Given the description of an element on the screen output the (x, y) to click on. 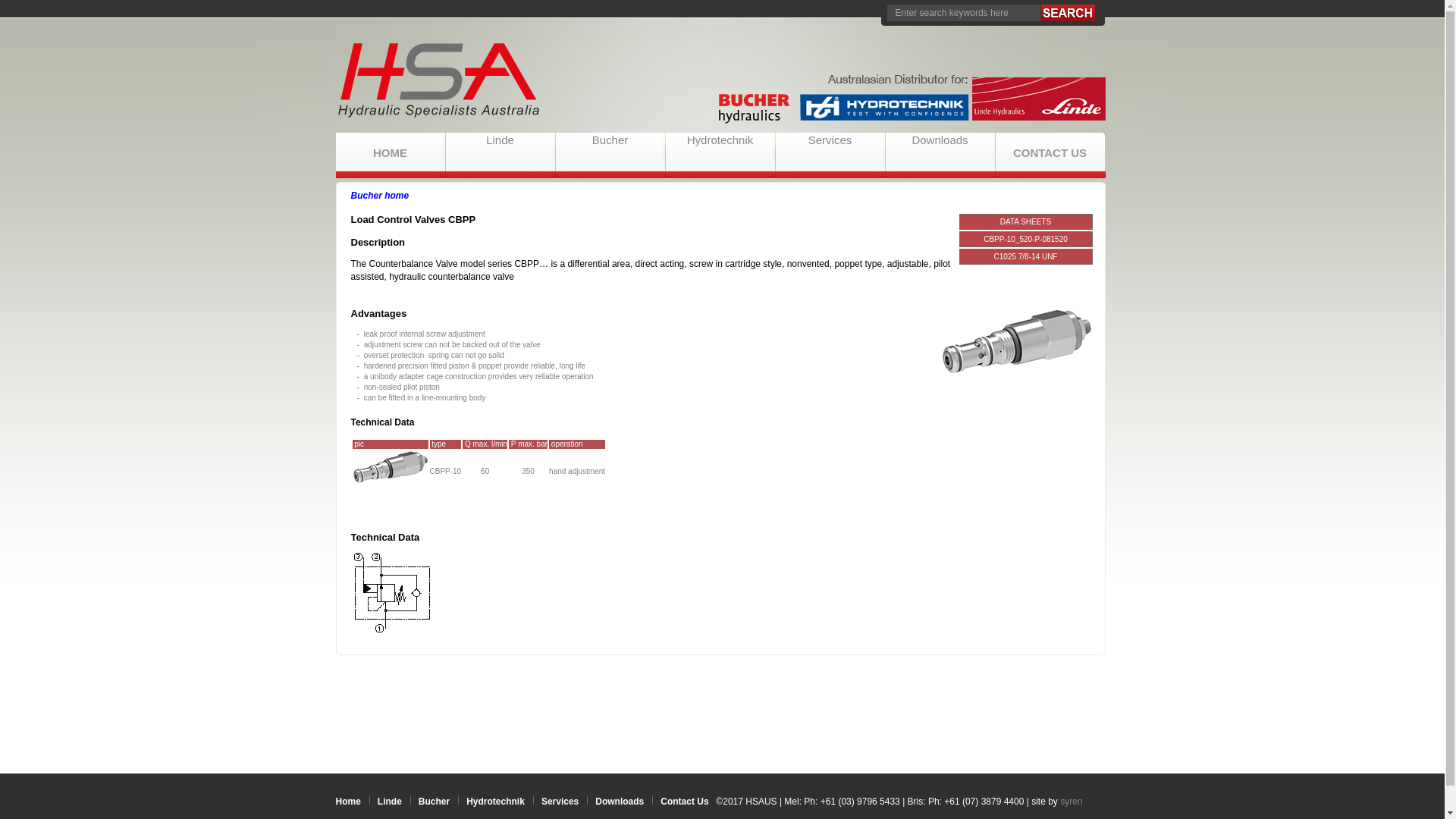
Services Element type: text (559, 801)
syren Element type: text (1071, 801)
Hydrotechnik Element type: text (720, 139)
Hydrotechnik Element type: text (495, 801)
Linde Element type: text (389, 801)
Downloads Element type: text (939, 139)
Downloads Element type: text (619, 801)
Contact Us Element type: text (684, 801)
Bucher Element type: text (433, 801)
Bucher Element type: text (610, 139)
Bucher home Element type: text (379, 195)
Home Element type: text (347, 801)
Linde Element type: text (500, 139)
C1025 7/8-14 UNF Element type: text (1025, 256)
HSAUS Element type: hover (721, 82)
CONTACT US Element type: text (1049, 151)
Search Element type: text (1067, 12)
CBPP-10_520-P-081520 Element type: text (1025, 239)
Services Element type: text (830, 139)
HOME Element type: text (389, 151)
